Given the description of an element on the screen output the (x, y) to click on. 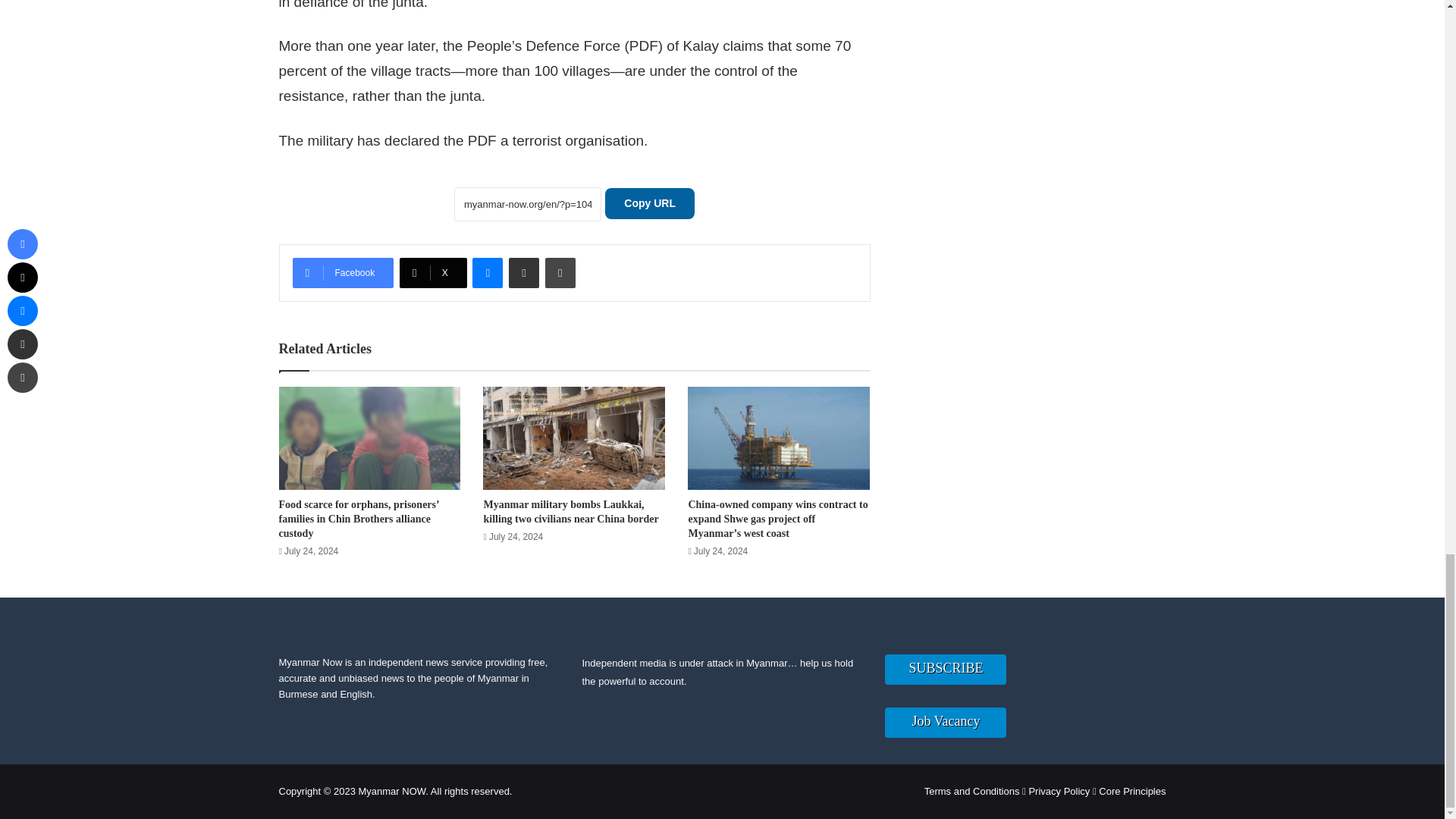
Messenger (486, 272)
Facebook (343, 272)
X (432, 272)
Print (559, 272)
X (432, 272)
Messenger (486, 272)
Share via Email (523, 272)
Print (559, 272)
Copy URL (649, 203)
Share via Email (523, 272)
Facebook (343, 272)
